Given the description of an element on the screen output the (x, y) to click on. 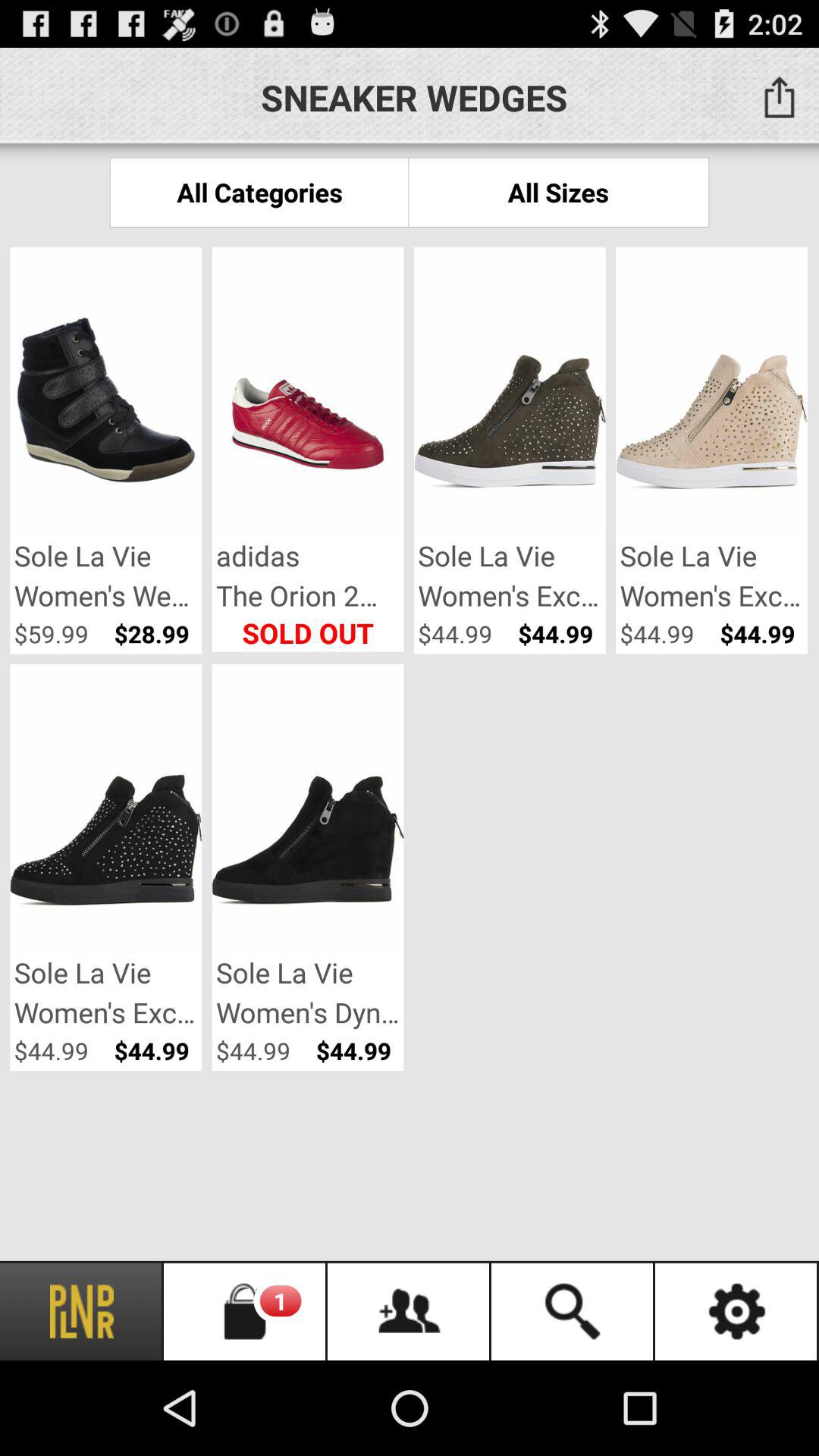
launch app next to the all categories item (558, 192)
